Given the description of an element on the screen output the (x, y) to click on. 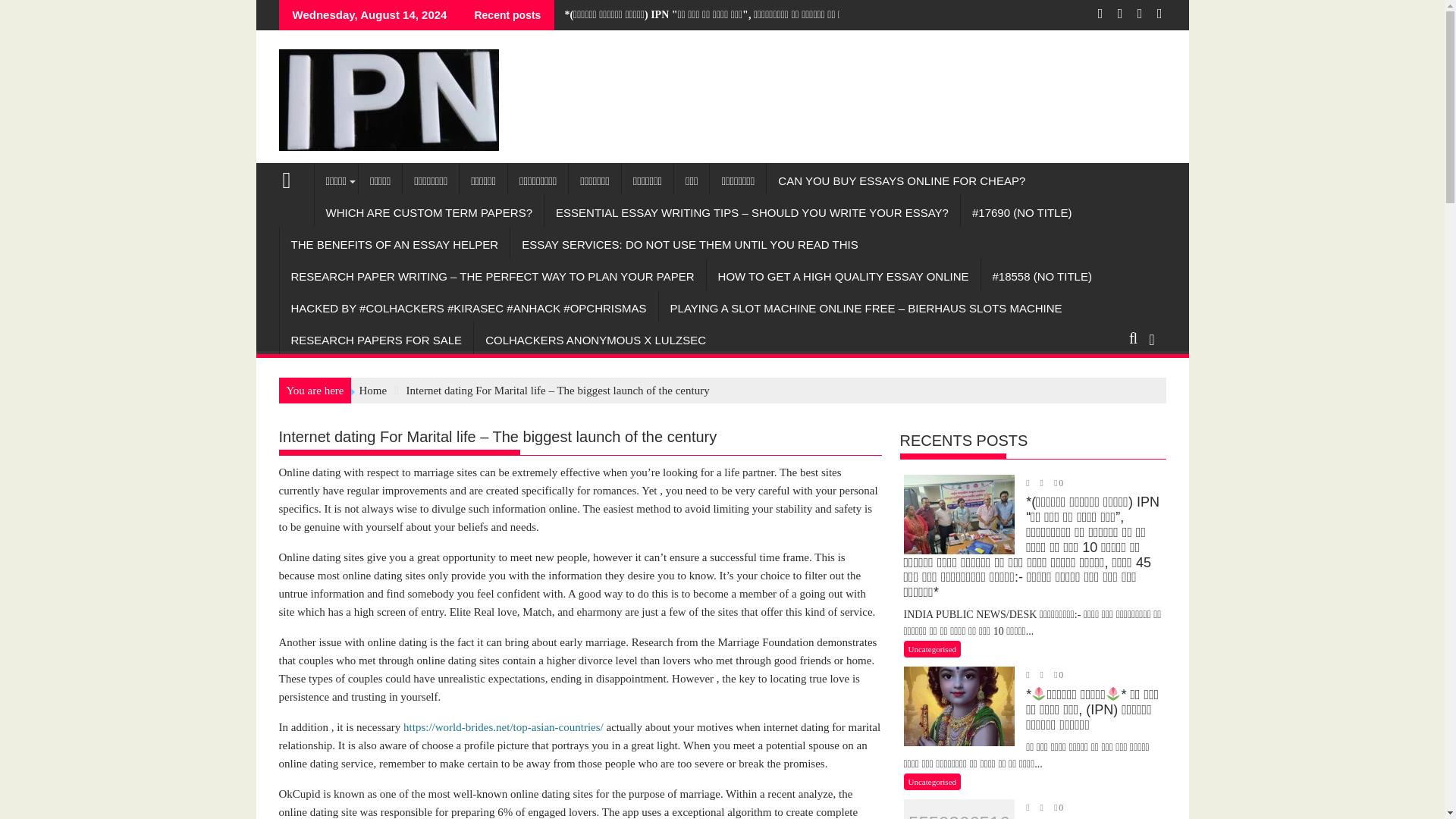
ESSAY SERVICES: DO NOT USE THEM UNTIL YOU READ THIS (690, 244)
WHICH ARE CUSTOM TERM PAPERS? (428, 212)
CAN YOU BUY ESSAYS ONLINE FOR CHEAP? (901, 180)
THE BENEFITS OF AN ESSAY HELPER (394, 244)
